Given the description of an element on the screen output the (x, y) to click on. 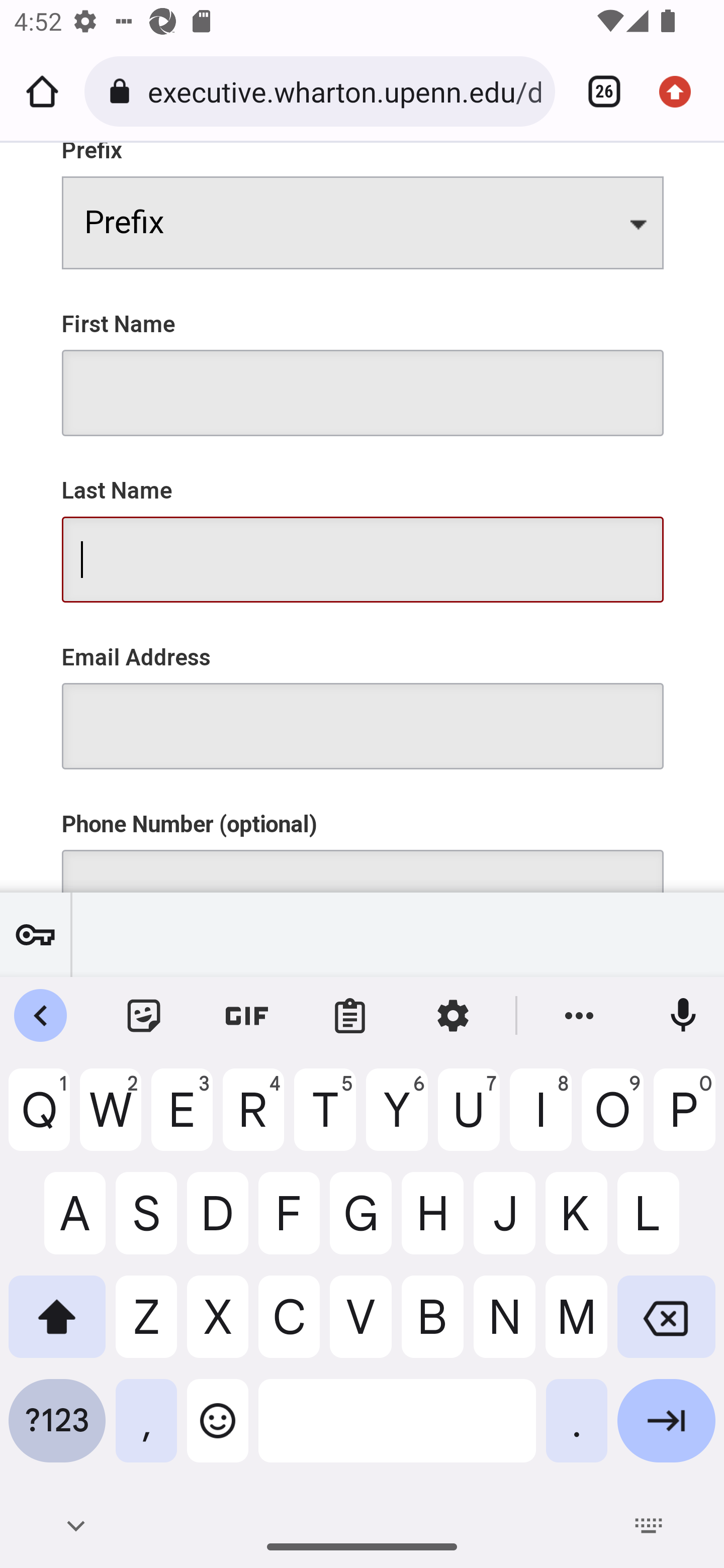
Home (42, 91)
Connection is secure (122, 91)
Switch or close tabs (597, 91)
Update available. More options (681, 91)
Prefix (362, 206)
Prefix (362, 223)
First Name (362, 361)
Last Name (362, 529)
Email Address (362, 694)
Phone Number (optional) (362, 839)
Show passwords (35, 934)
